Given the description of an element on the screen output the (x, y) to click on. 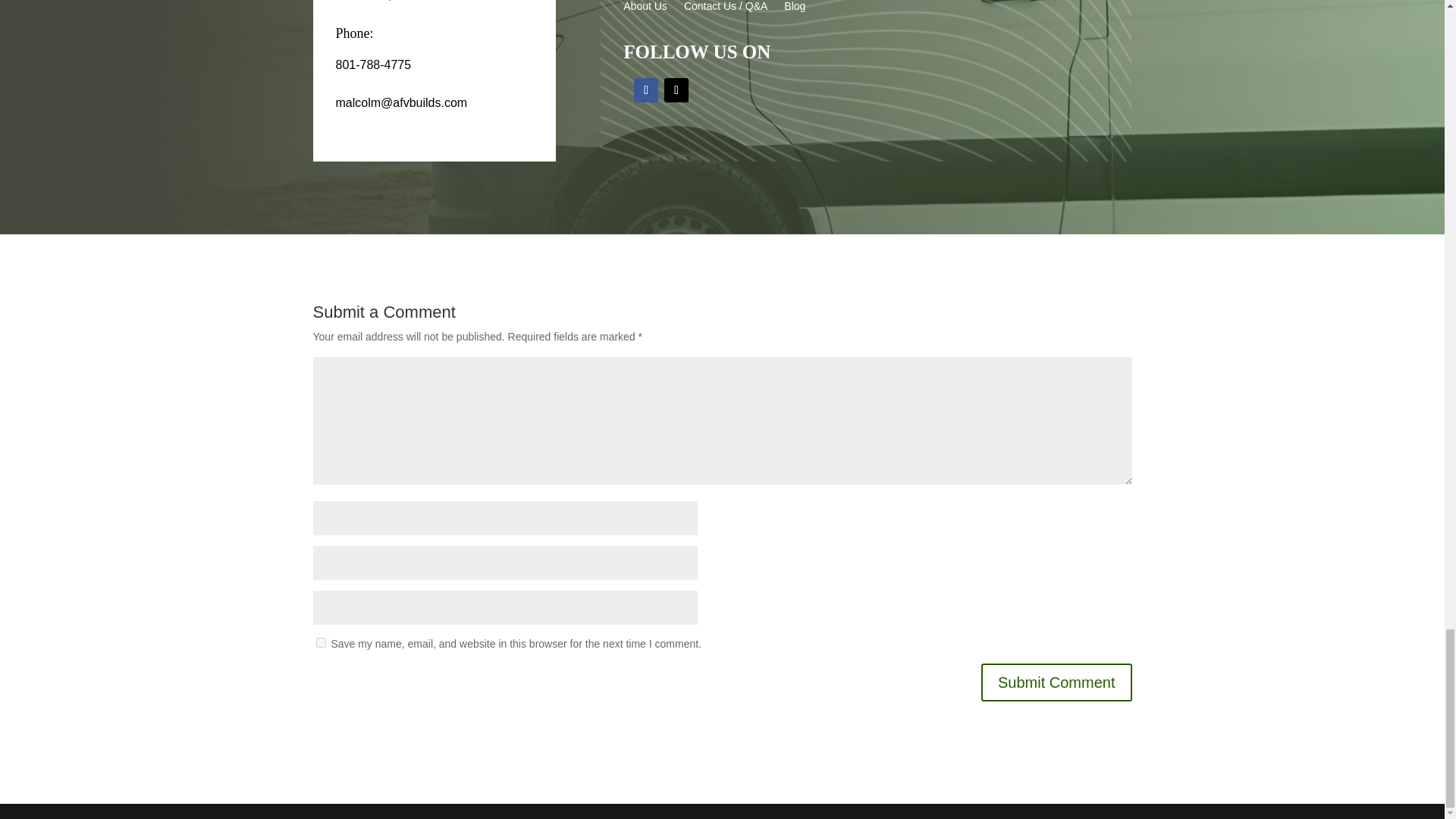
Follow on Facebook (645, 89)
Submit Comment (1056, 682)
Follow on X (675, 89)
yes (319, 642)
Blog (794, 8)
About Us (644, 8)
